Given the description of an element on the screen output the (x, y) to click on. 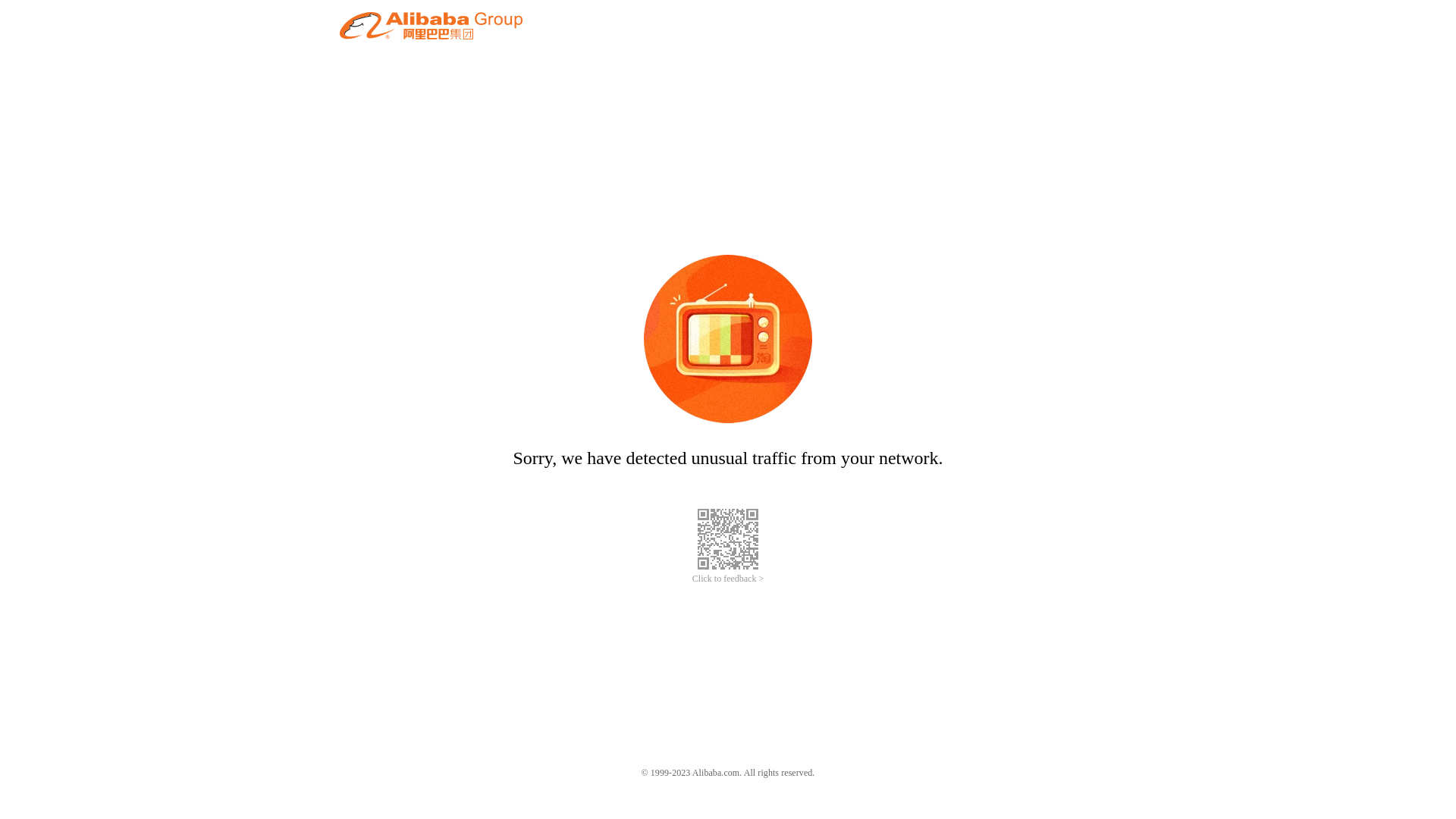
Click to feedback > Element type: text (727, 578)
